Given the description of an element on the screen output the (x, y) to click on. 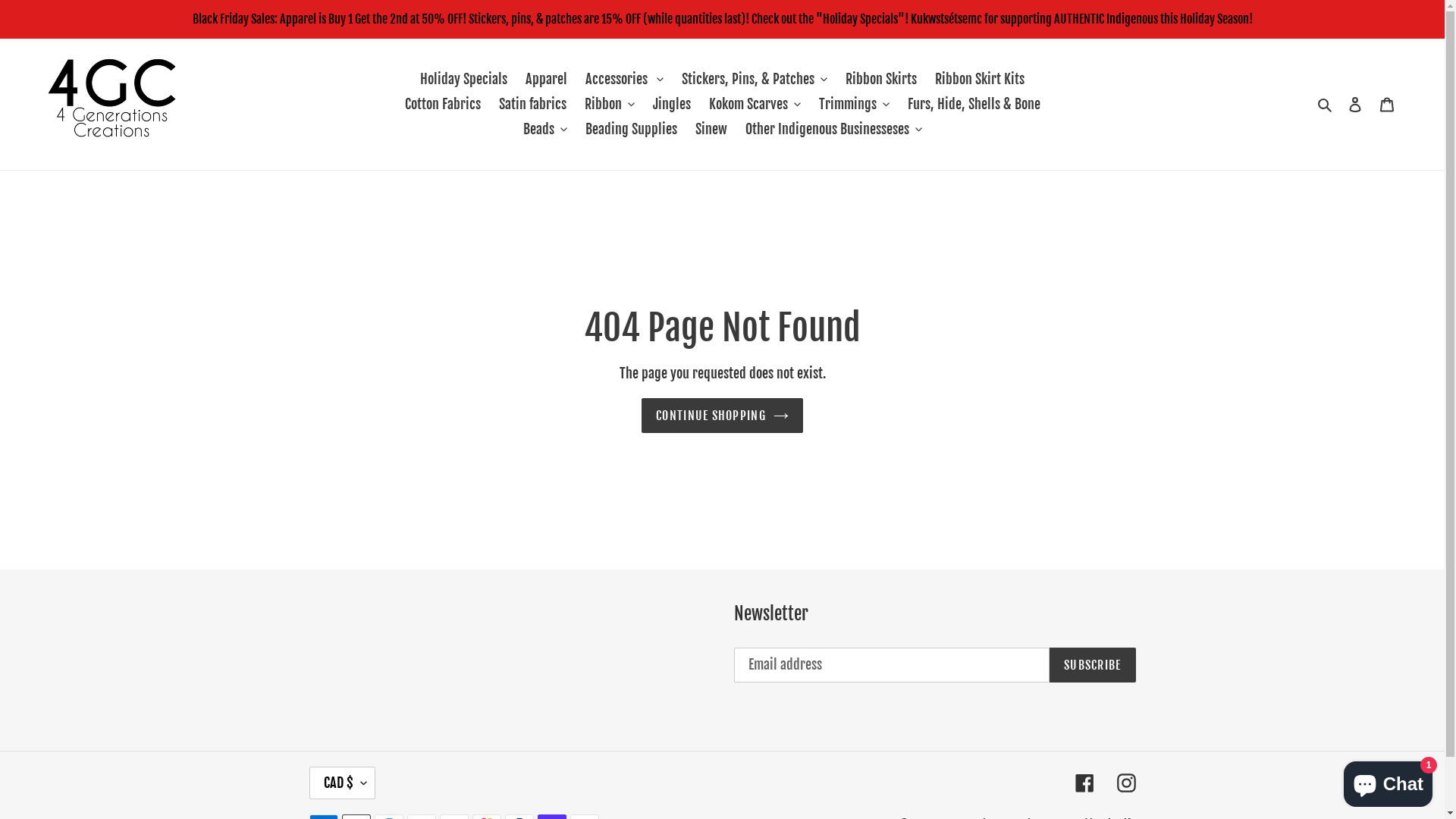
CONTINUE SHOPPING Element type: text (722, 415)
Kokom Scarves Element type: text (753, 103)
Stickers, Pins, & Patches Element type: text (754, 78)
Ribbon Skirts Element type: text (880, 78)
CAD $ Element type: text (342, 783)
Furs, Hide, Shells & Bone Element type: text (973, 103)
Apparel Element type: text (545, 78)
Holiday Specials Element type: text (463, 78)
Sinew Element type: text (710, 128)
Shopify online store chat Element type: hover (1388, 780)
Log in Element type: text (1355, 104)
Beading Supplies Element type: text (630, 128)
Instagram Element type: text (1125, 782)
Ribbon Skirt Kits Element type: text (979, 78)
Ribbon Element type: text (608, 103)
SUBSCRIBE Element type: text (1092, 664)
Satin fabrics Element type: text (532, 103)
Cart Element type: text (1386, 104)
Facebook Element type: text (1084, 782)
Search Element type: text (1325, 104)
Cotton Fabrics Element type: text (442, 103)
Other Indigenous Businesseses Element type: text (832, 128)
Beads Element type: text (544, 128)
Jingles Element type: text (670, 103)
Trimmings Element type: text (854, 103)
Accessories Element type: text (624, 78)
